Given the description of an element on the screen output the (x, y) to click on. 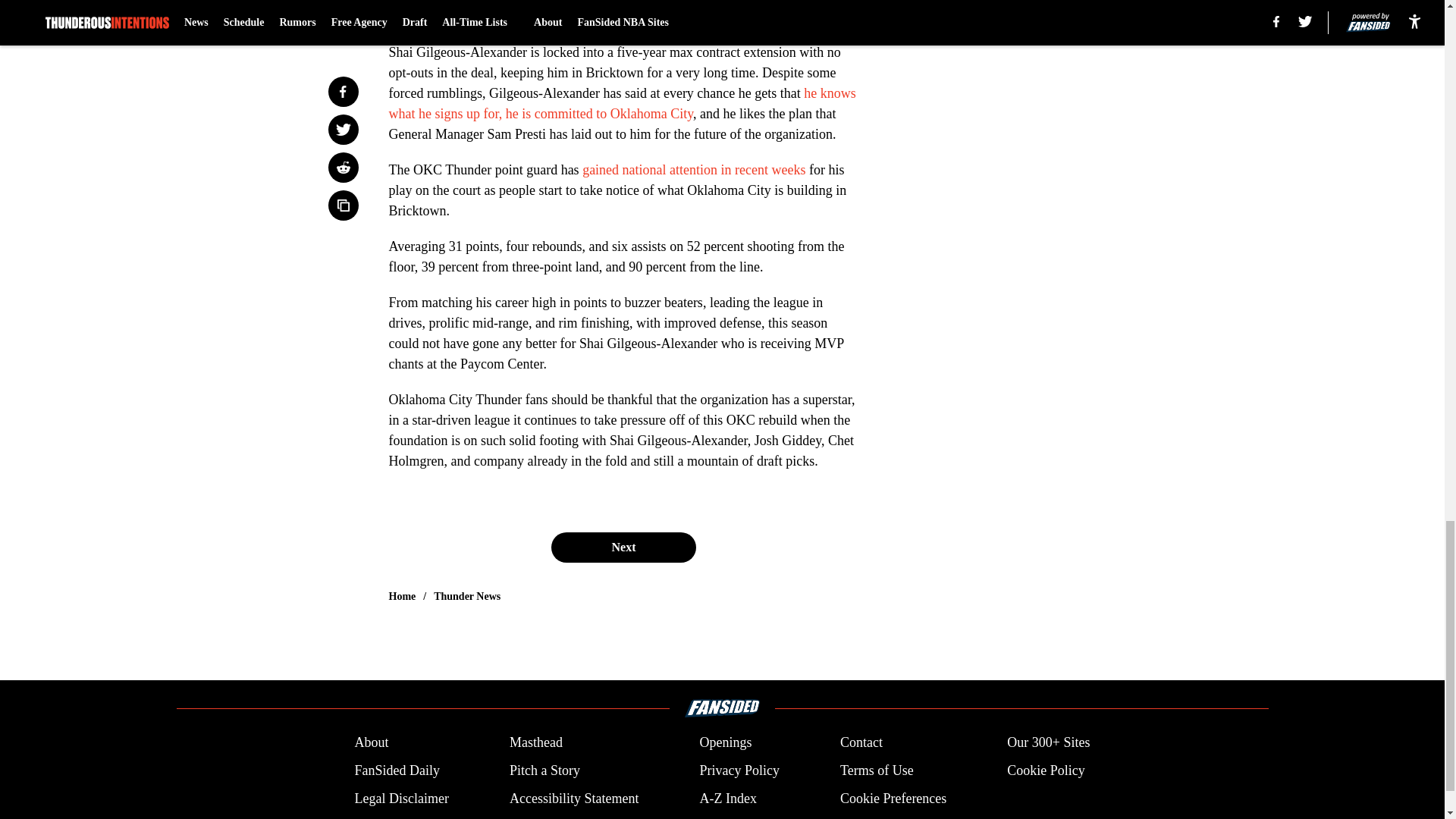
Contact (861, 742)
Thunder News (466, 596)
Privacy Policy (738, 770)
FanSided Daily (396, 770)
About (370, 742)
Next (622, 547)
Masthead (535, 742)
Home (401, 596)
Openings (724, 742)
